Given the description of an element on the screen output the (x, y) to click on. 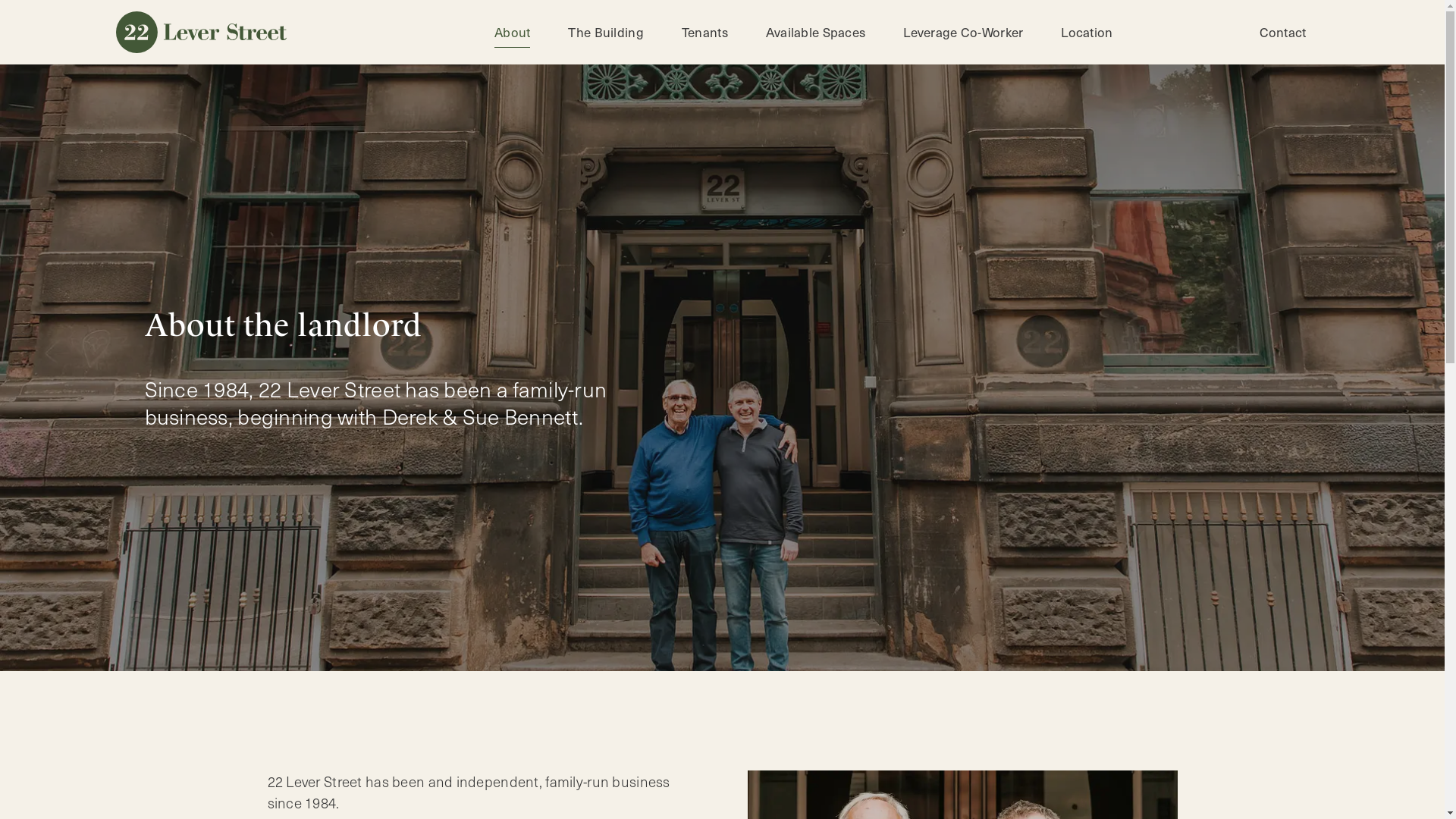
Tenants Element type: text (704, 31)
About Element type: text (512, 31)
Register Interest Element type: text (48, 12)
The Building Element type: text (605, 31)
Available Spaces Element type: text (815, 31)
Location Element type: text (1086, 31)
Contact Element type: text (1282, 31)
Leverage Co-Worker Element type: text (962, 31)
